Given the description of an element on the screen output the (x, y) to click on. 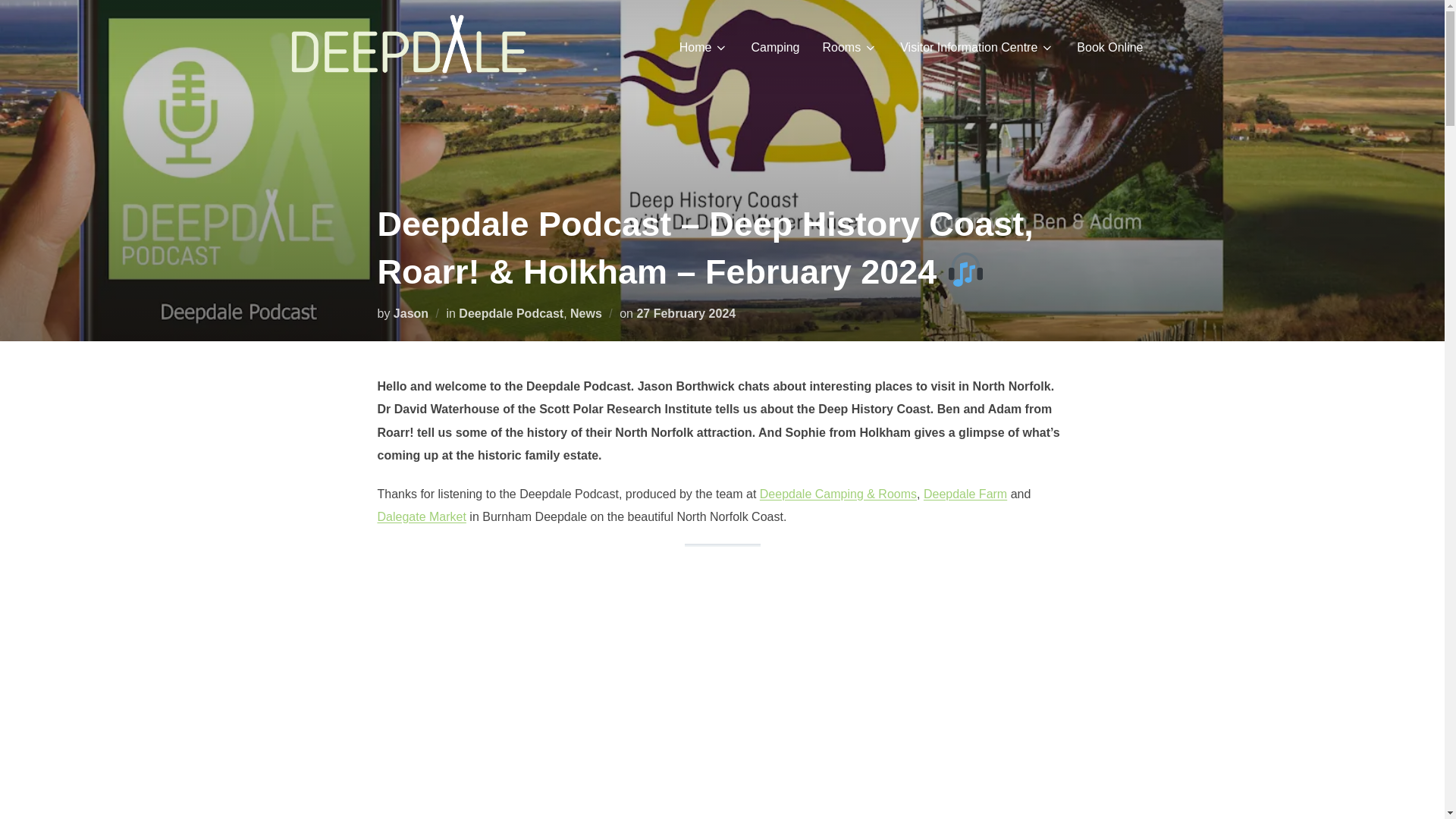
Camping (775, 46)
Visitor Information Centre (976, 46)
Rooms (849, 46)
Home (704, 46)
